Given the description of an element on the screen output the (x, y) to click on. 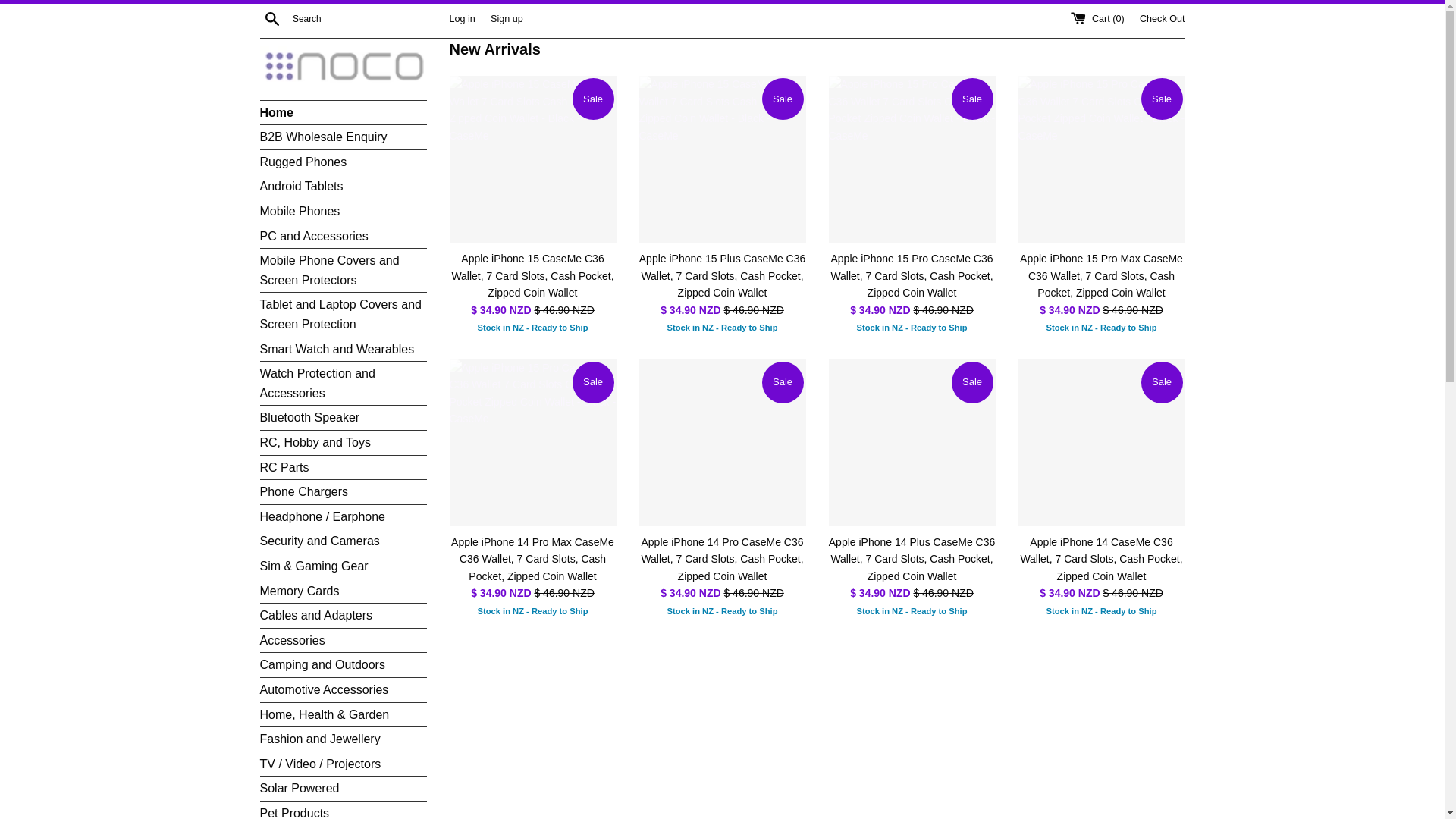
Tablet and Laptop Covers and Screen Protection (342, 313)
B2B Wholesale Enquiry (342, 137)
RC, Hobby and Toys (342, 442)
Cables and Adapters (342, 615)
PC and Accessories (342, 236)
Home (342, 112)
